Given the description of an element on the screen output the (x, y) to click on. 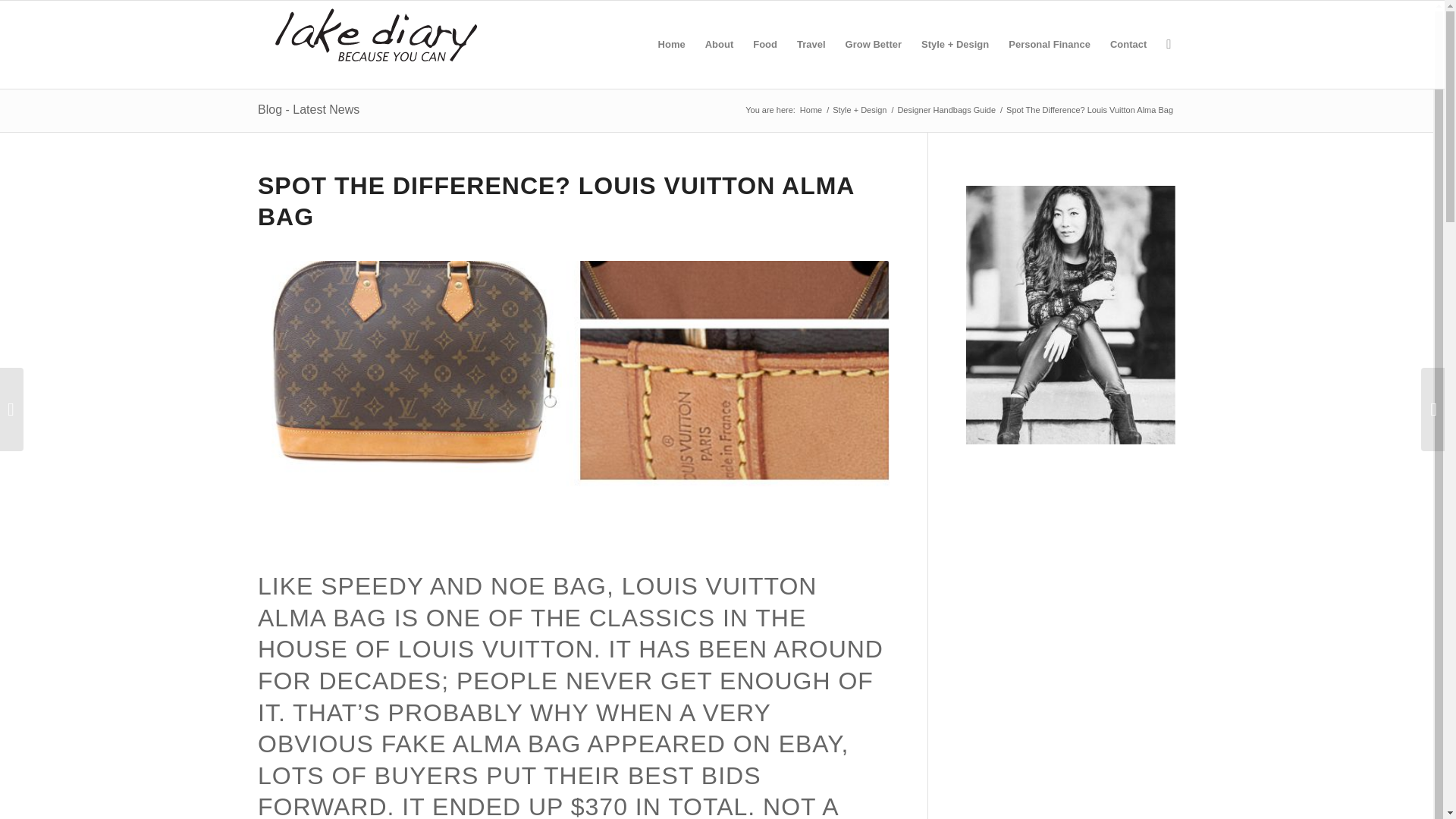
Home (810, 110)
lakediary-logo-3 (376, 44)
Personal Finance (1049, 44)
lakediary-logo-3 (376, 36)
Blog - Latest News (308, 109)
Permanent Link: Blog - Latest News (308, 109)
Designer Handbags Guide (946, 110)
Lake Diary (810, 110)
